Given the description of an element on the screen output the (x, y) to click on. 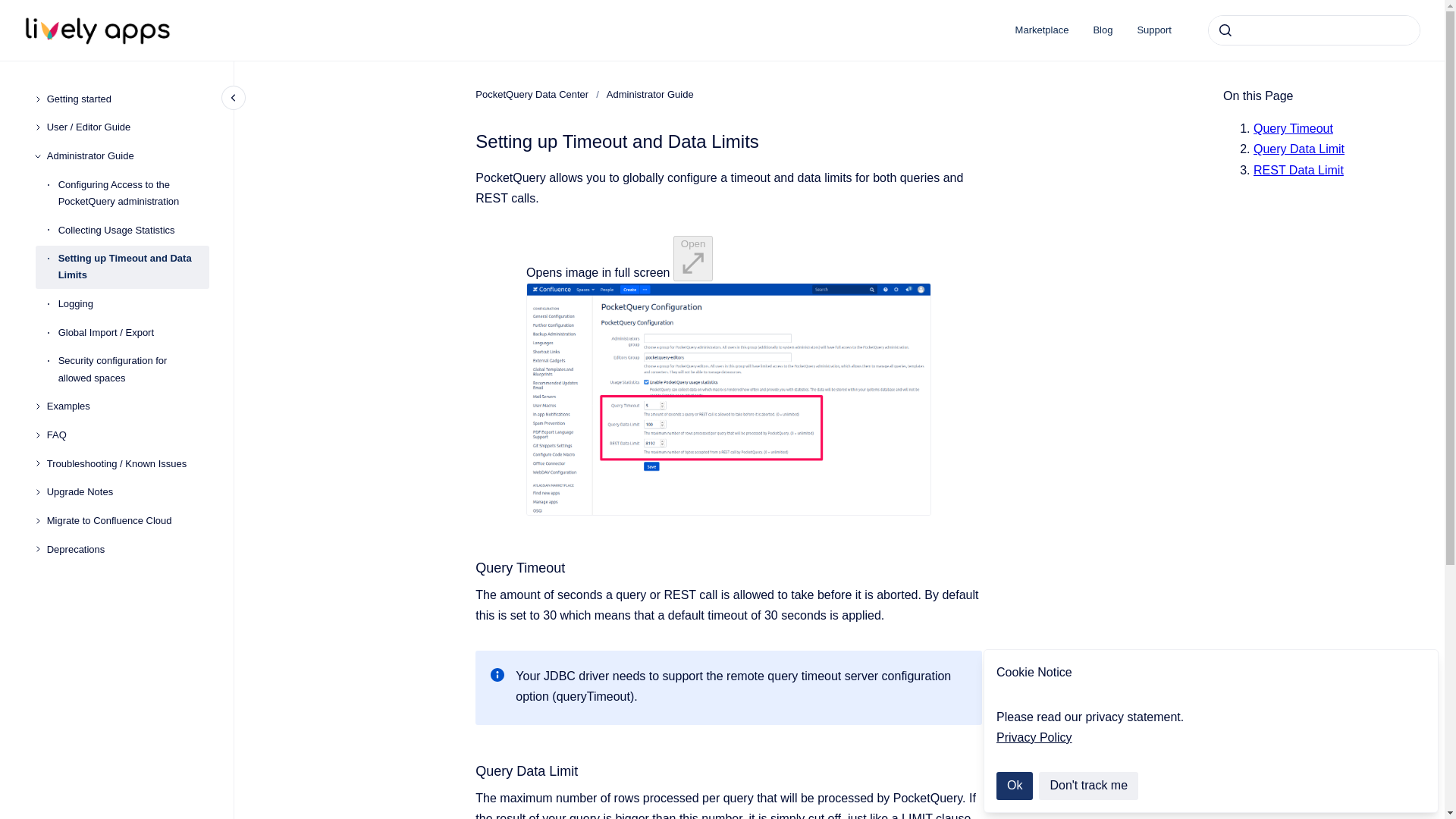
Support (1153, 29)
Security configuration for allowed spaces (133, 370)
Privacy Policy (1033, 737)
Don't track me (1088, 786)
PocketQuery Data Center (532, 94)
Go to homepage (97, 30)
FAQ (127, 434)
Migrate to Confluence Cloud (127, 520)
Administrator Guide (650, 94)
Upgrade Notes (127, 492)
